Given the description of an element on the screen output the (x, y) to click on. 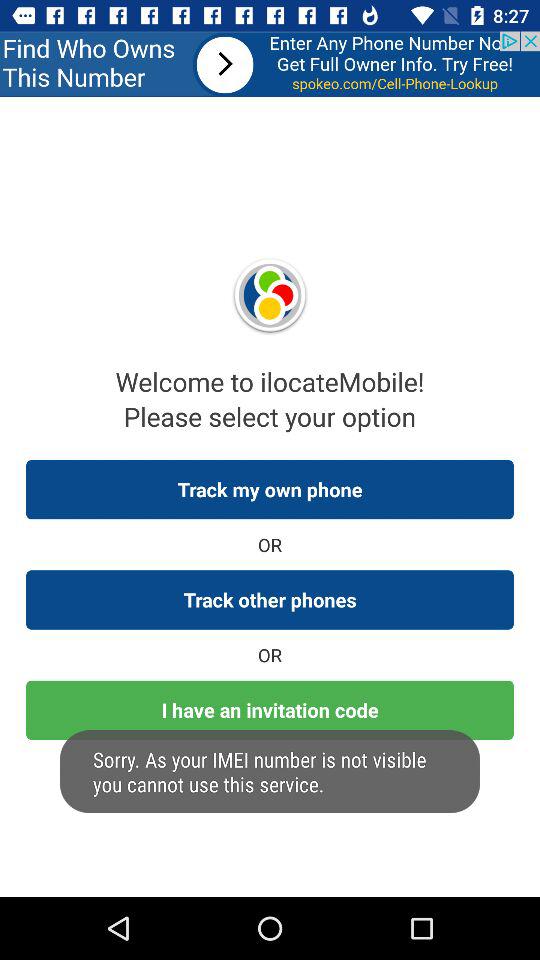
advertisement (270, 64)
